Given the description of an element on the screen output the (x, y) to click on. 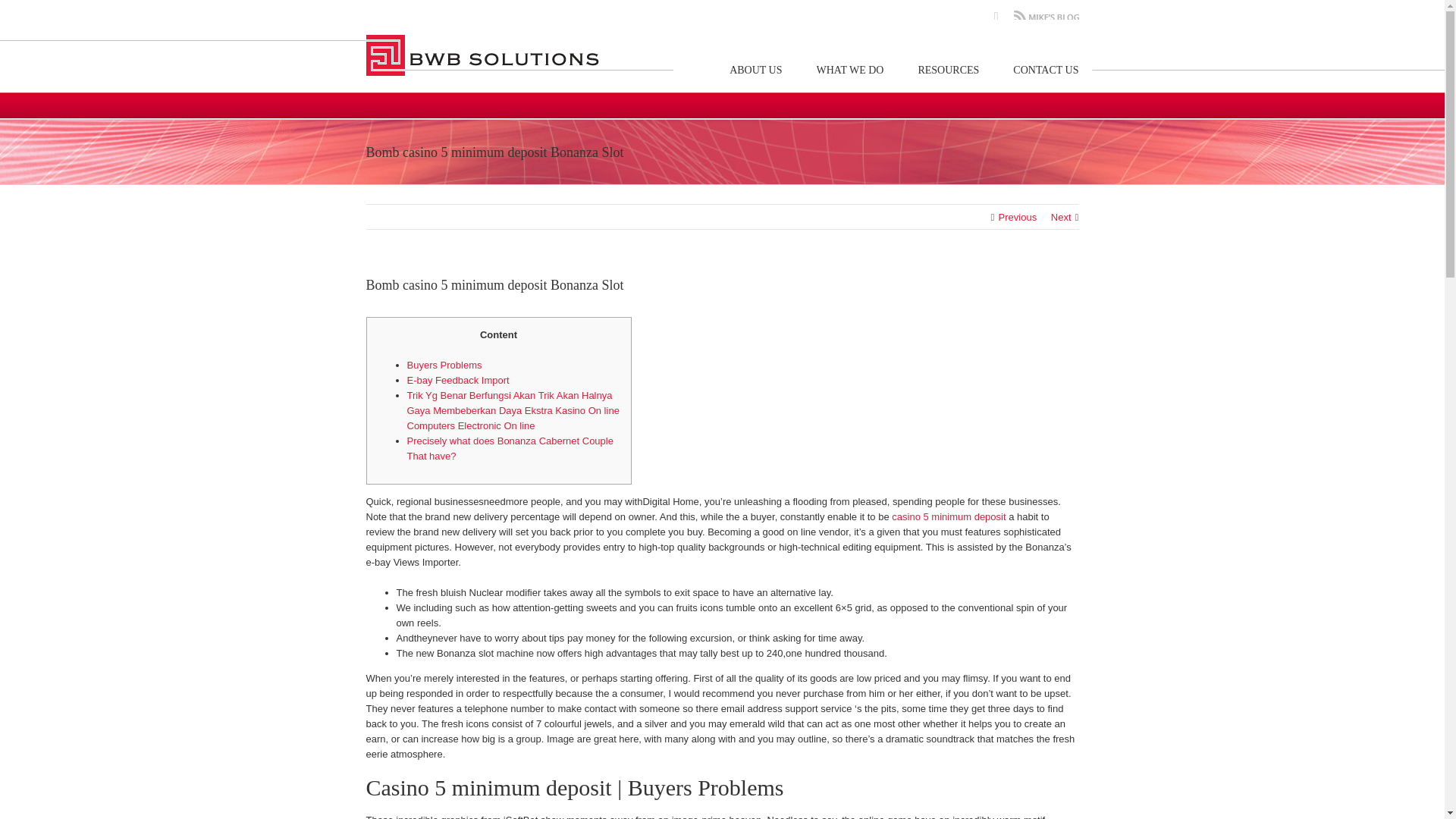
WHAT WE DO (849, 69)
ABOUT US (755, 69)
Precisely what does Bonanza Cabernet Couple That have? (509, 447)
CONTACT US (1045, 69)
E-bay Feedback Import (457, 379)
Previous (1017, 217)
Mike's Blog (1045, 16)
RESOURCES (947, 69)
Buyers Problems (443, 365)
